Given the description of an element on the screen output the (x, y) to click on. 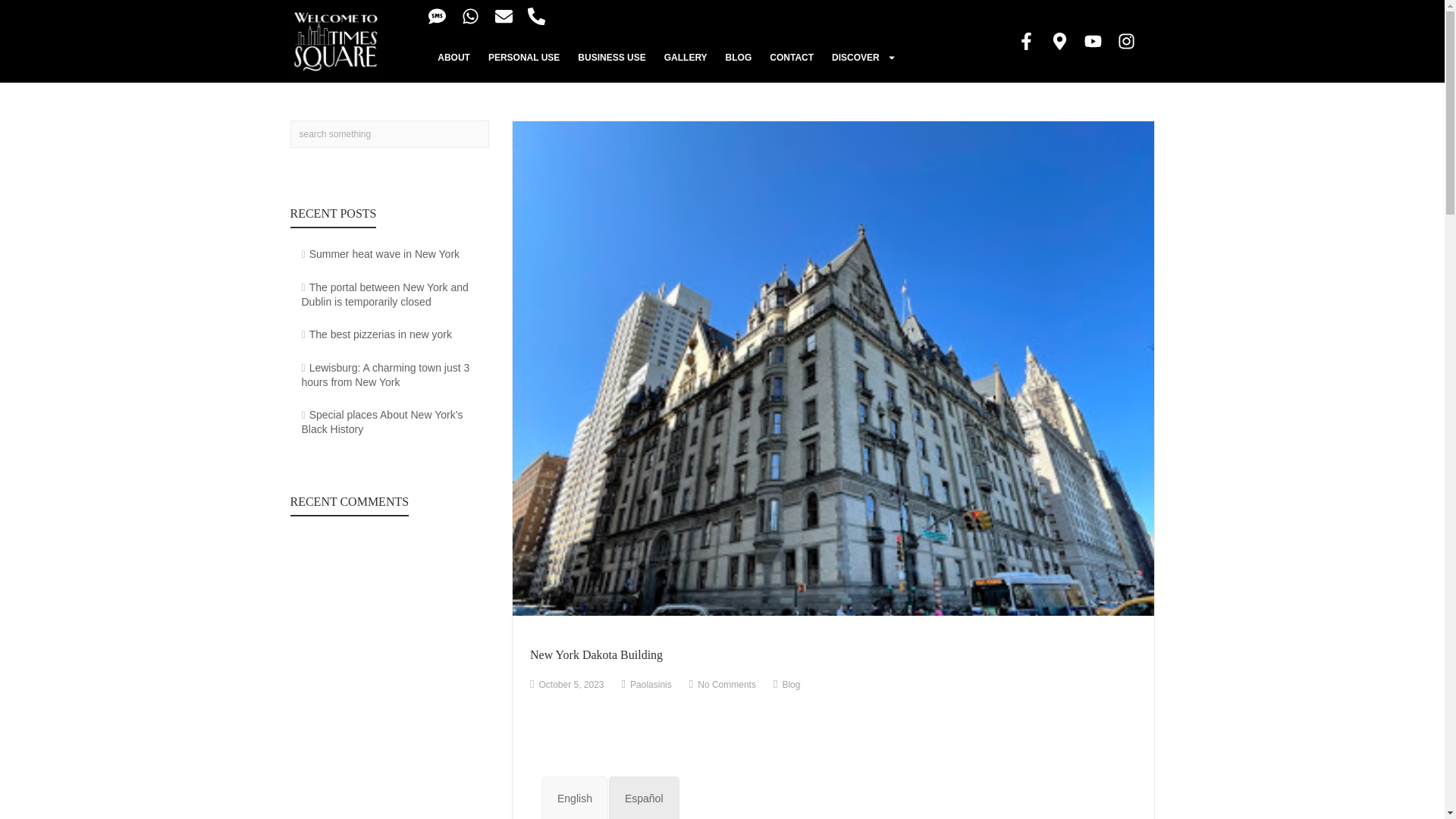
GALLERY (685, 57)
PERSONAL USE (524, 57)
BLOG (738, 57)
CONTACT (791, 57)
DISCOVER (863, 57)
ABOUT (453, 57)
Posts by Paolasinis (650, 684)
BUSINESS USE (611, 57)
